Given the description of an element on the screen output the (x, y) to click on. 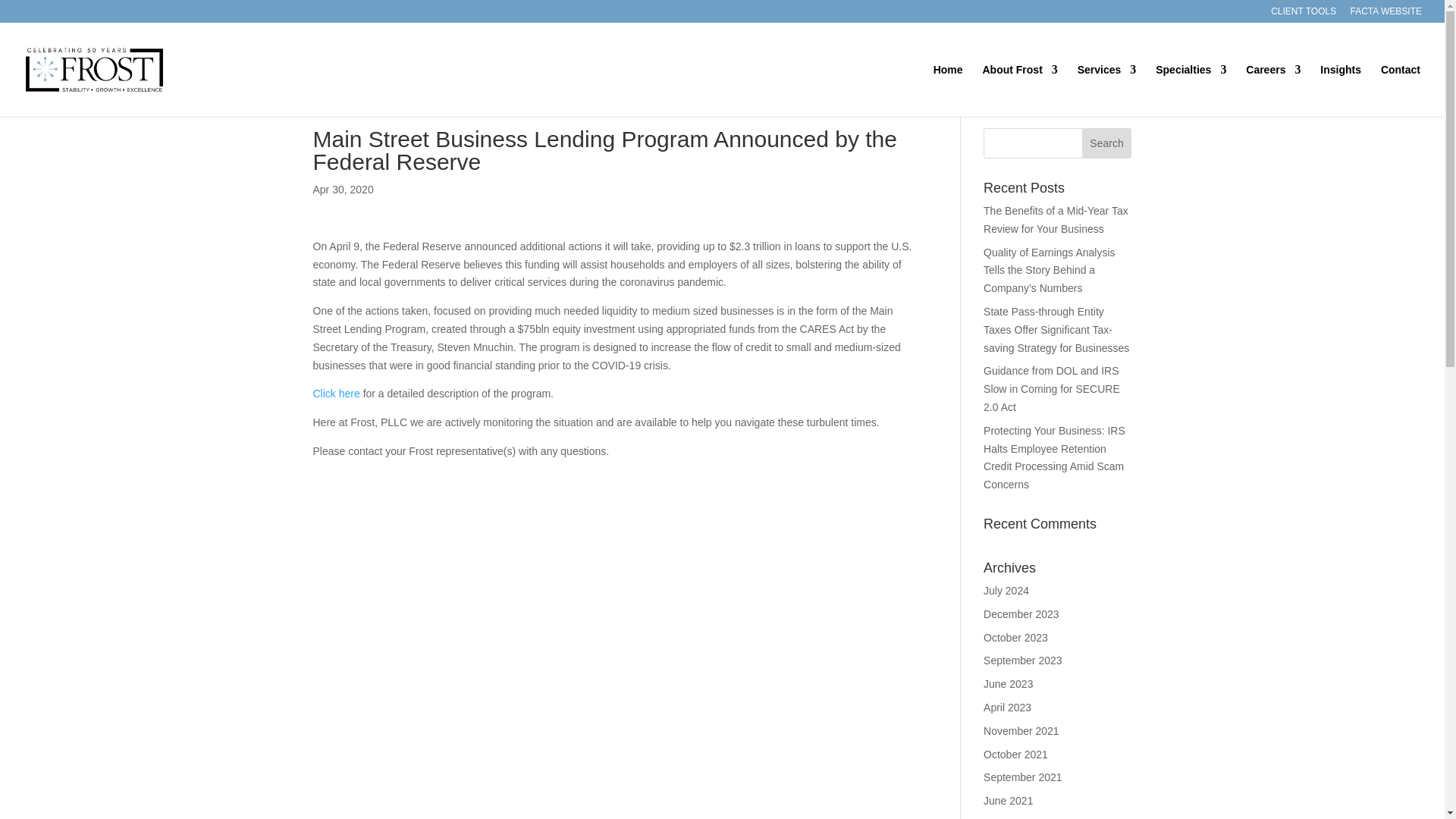
July 2024 (1006, 590)
October 2023 (1016, 637)
December 2023 (1021, 613)
FACTA WEBSITE (1386, 14)
Search (1106, 142)
CLIENT TOOLS (1303, 14)
Search (1106, 142)
Services (1107, 90)
About Frost (1020, 90)
Click here  (337, 393)
Specialties (1190, 90)
The Benefits of a Mid-Year Tax Review for Your Business (1056, 219)
Guidance from DOL and IRS Slow in Coming for SECURE 2.0 Act (1051, 388)
